Given the description of an element on the screen output the (x, y) to click on. 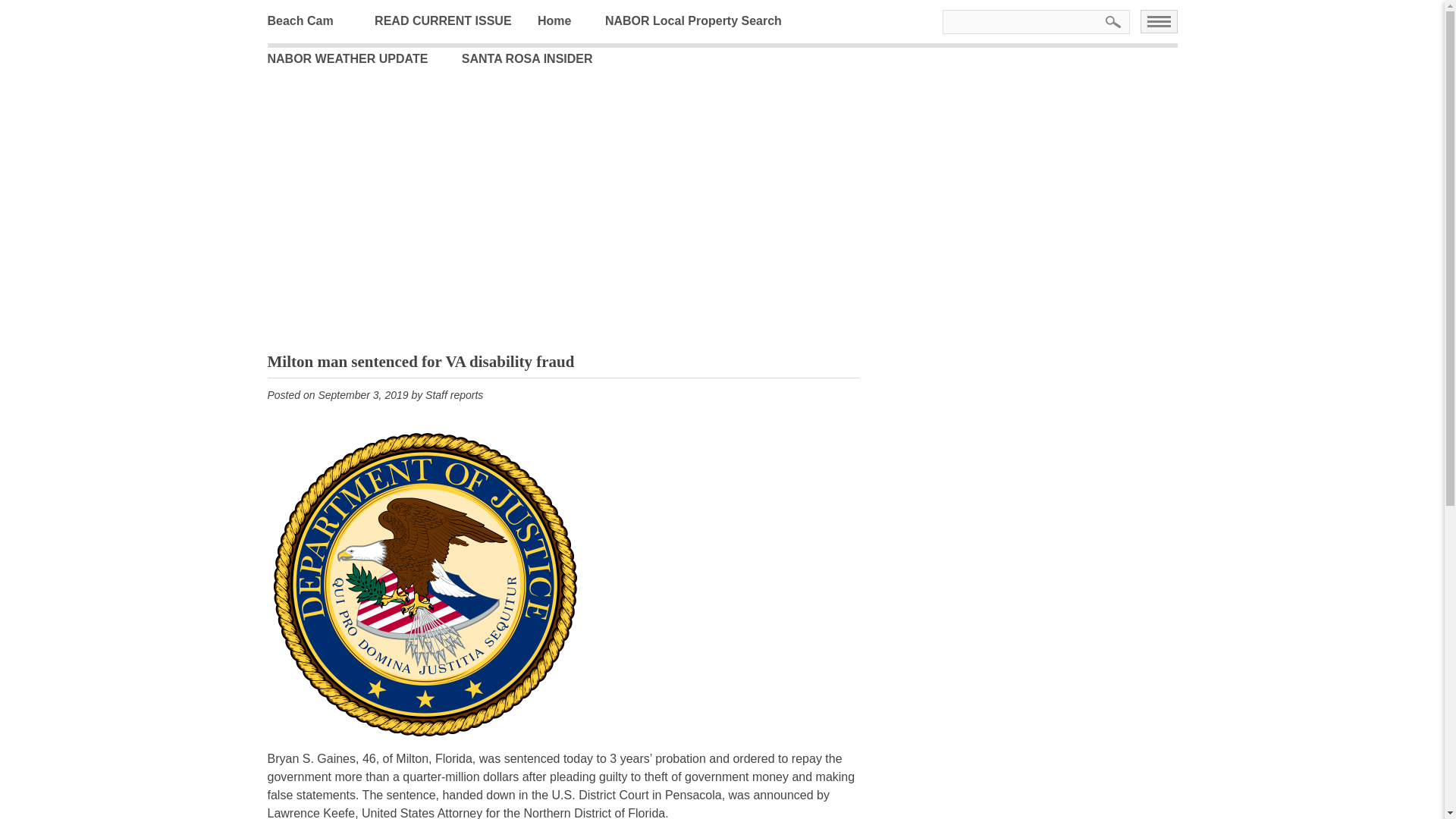
SANTA ROSA INSIDER (538, 58)
NABOR WEATHER UPDATE (357, 58)
READ CURRENT ISSUE (454, 21)
NABOR Local Property Search (705, 21)
Home (565, 21)
Beach Cam (310, 21)
